Given the description of an element on the screen output the (x, y) to click on. 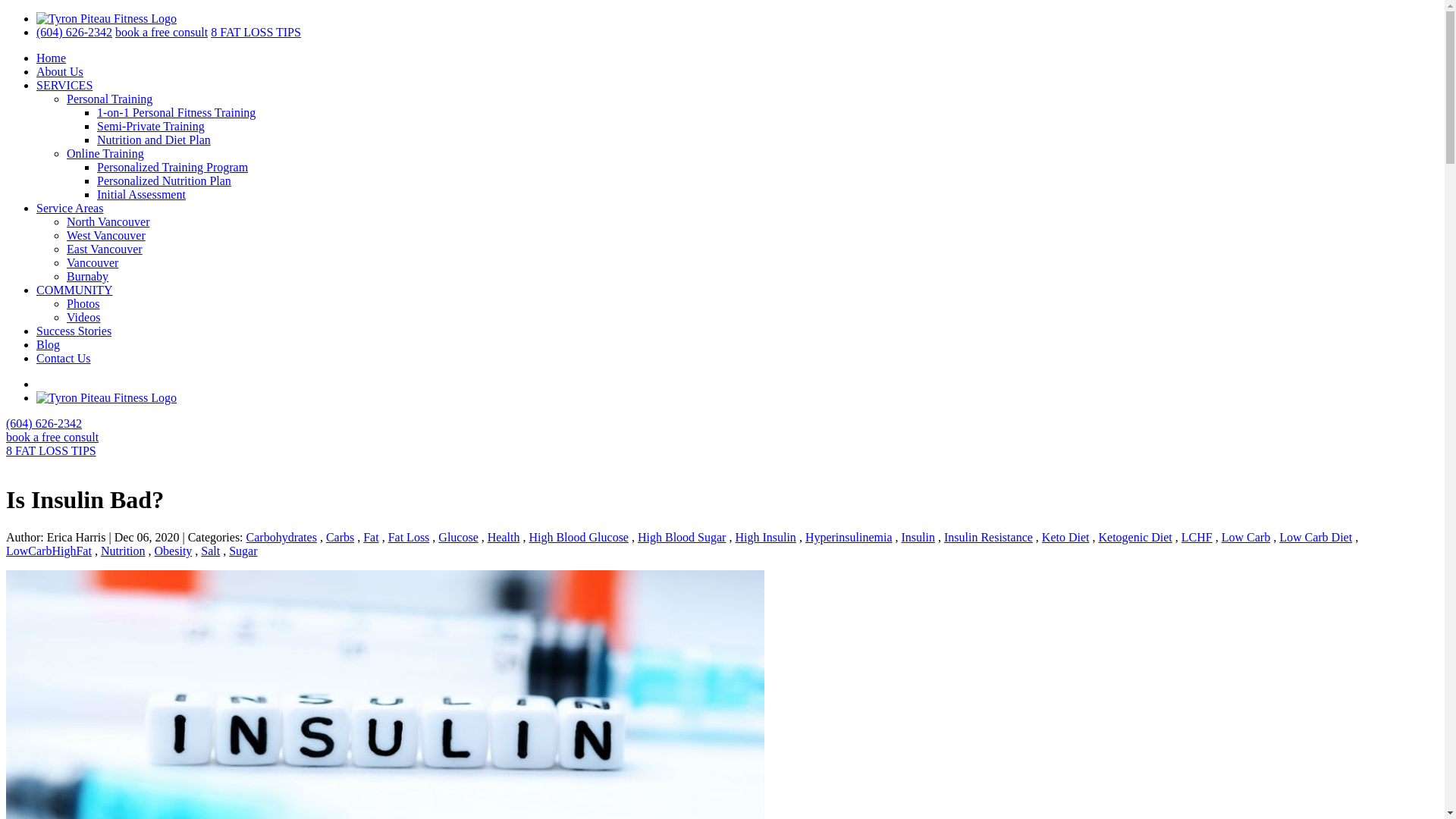
Photos (83, 303)
North Vancouver (107, 221)
COMMUNITY (74, 289)
Home (50, 57)
Health (503, 536)
8 FAT LOSS TIPS (256, 31)
Personal Training (109, 98)
Success Stories (74, 330)
Semi-Private Training (151, 125)
book a free consult (52, 436)
